Given the description of an element on the screen output the (x, y) to click on. 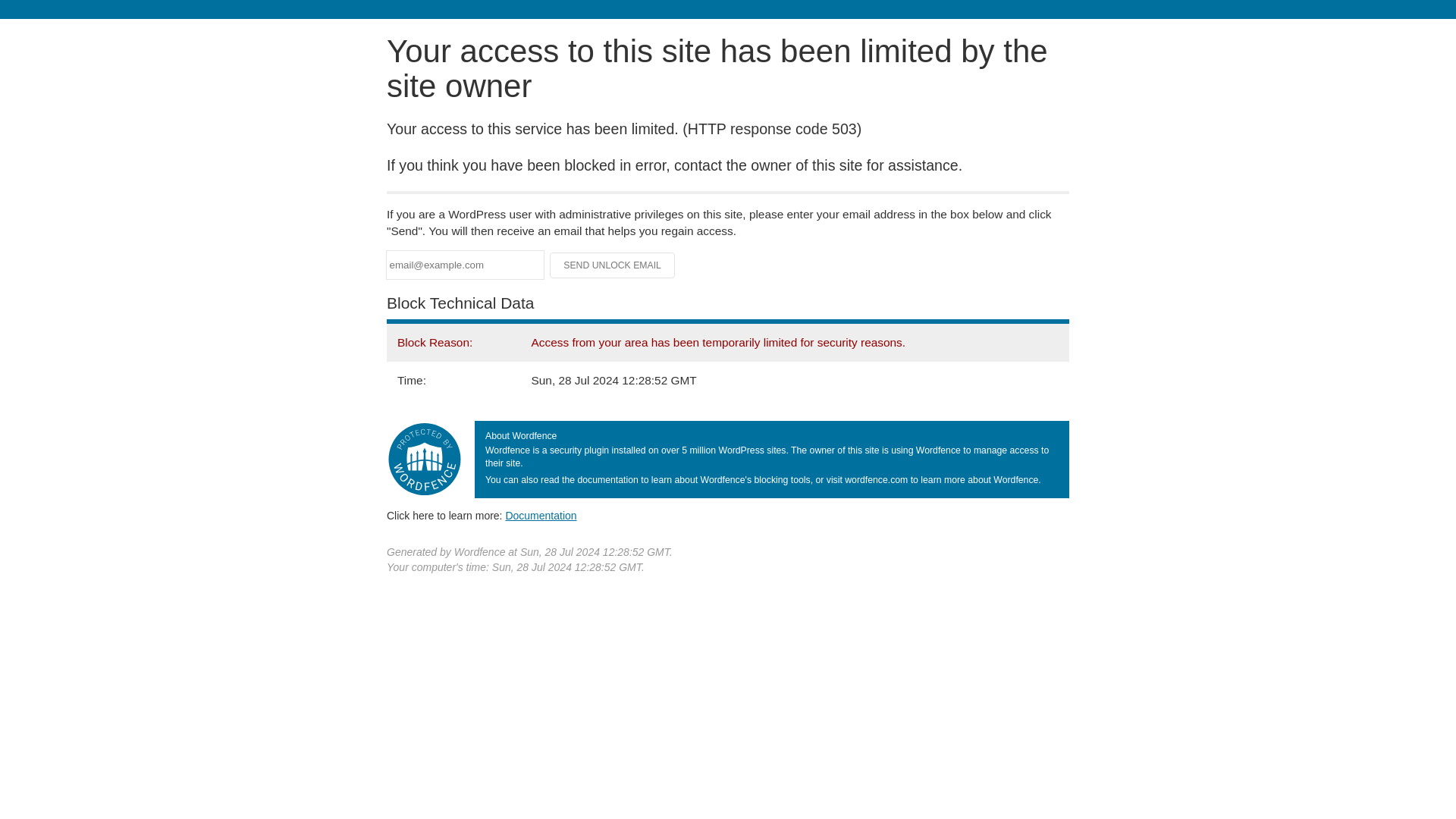
Send Unlock Email (612, 265)
Documentation (540, 515)
Send Unlock Email (612, 265)
